Given the description of an element on the screen output the (x, y) to click on. 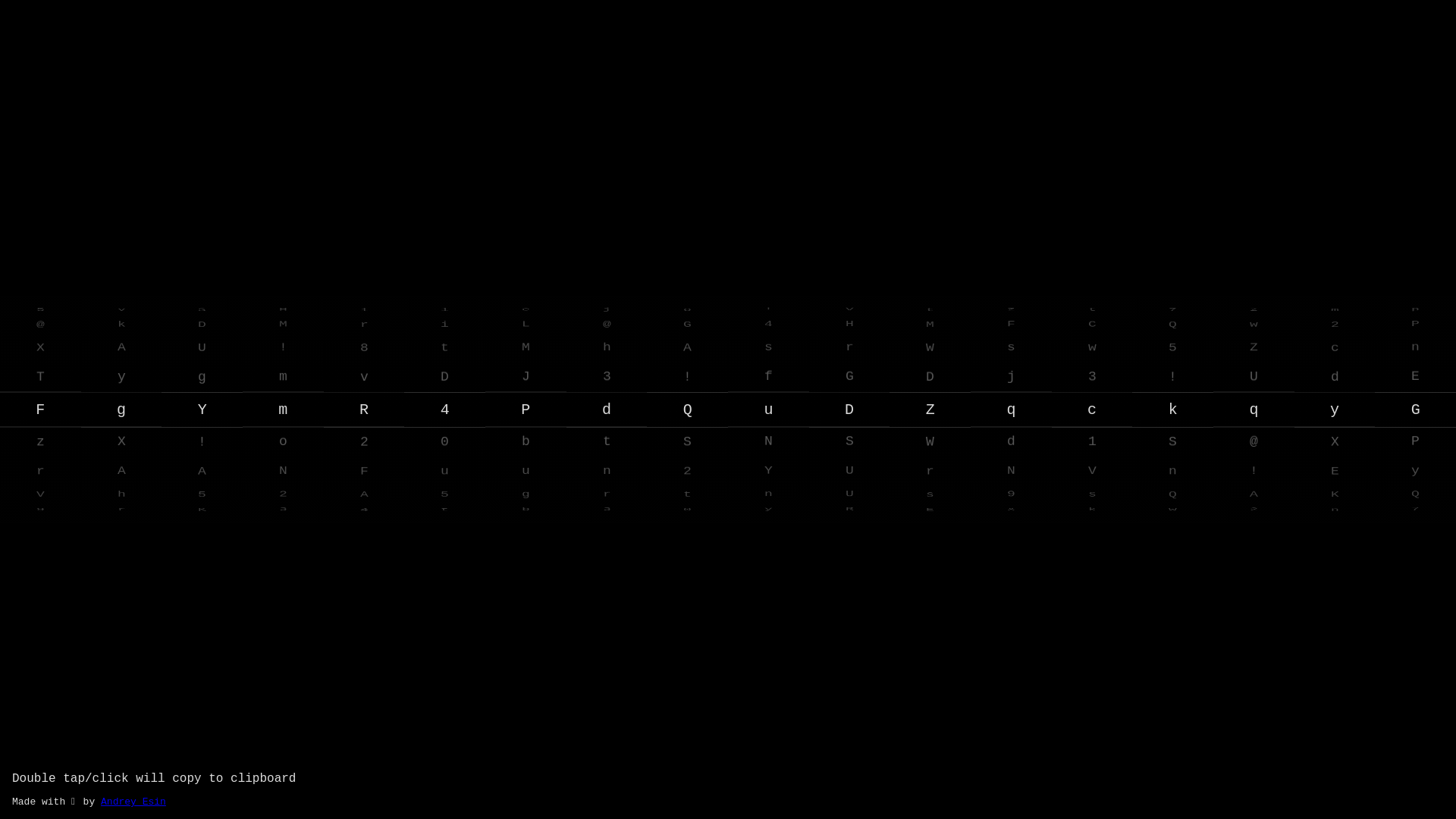
Andrey Esin Element type: text (133, 801)
